Given the description of an element on the screen output the (x, y) to click on. 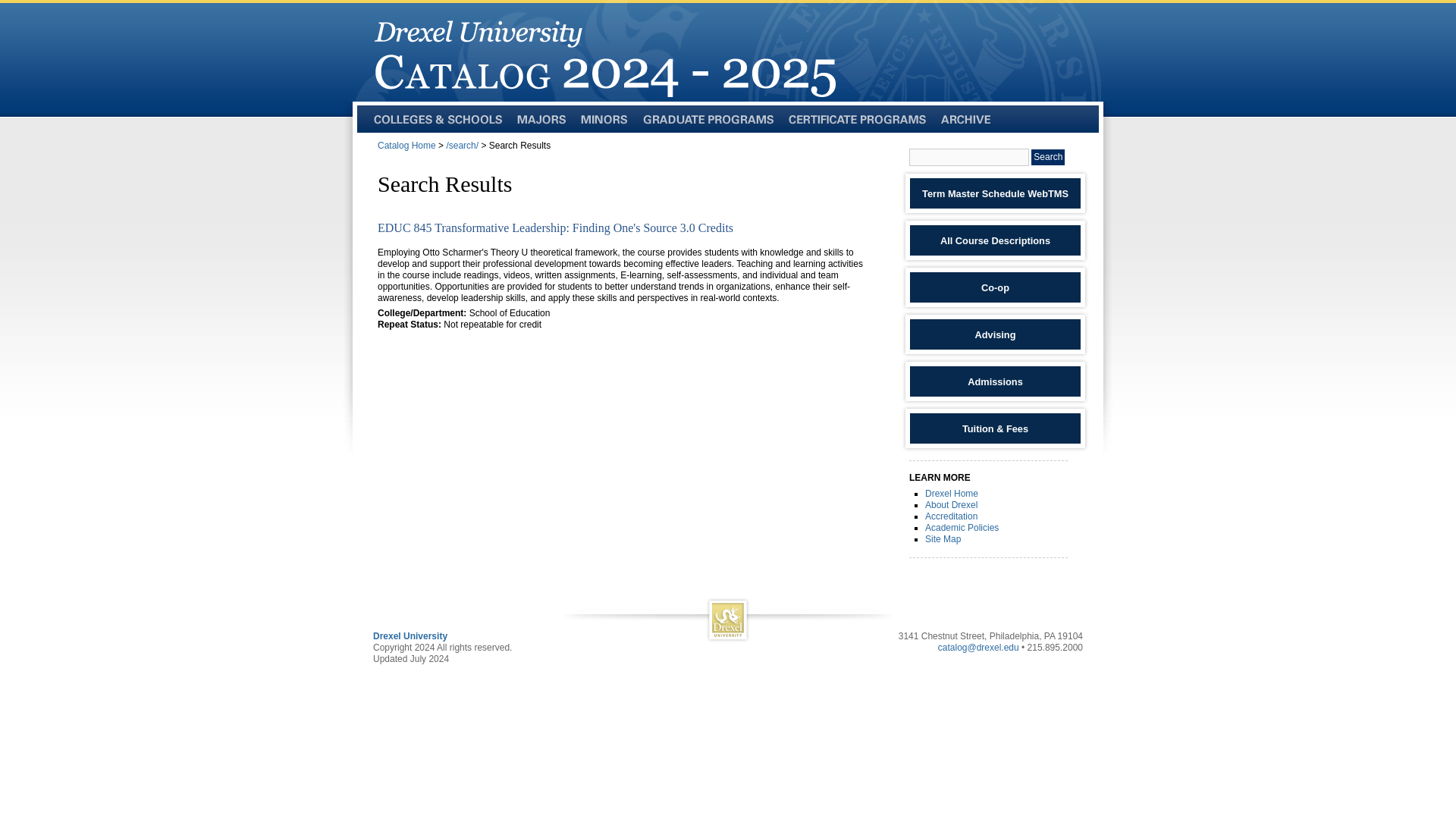
Accreditation (950, 516)
Drexel Home (951, 493)
Advising (994, 333)
Colleges and Schools (437, 119)
Majors (541, 119)
Catalog Home (406, 145)
Term Master Schedule WebTMS (994, 192)
Minors (603, 119)
Search (1047, 157)
Drexel University (409, 635)
Archive (965, 119)
Academic Policies (961, 527)
All Course Descriptions (994, 240)
Graduate Programs (708, 119)
Site Map (942, 538)
